Given the description of an element on the screen output the (x, y) to click on. 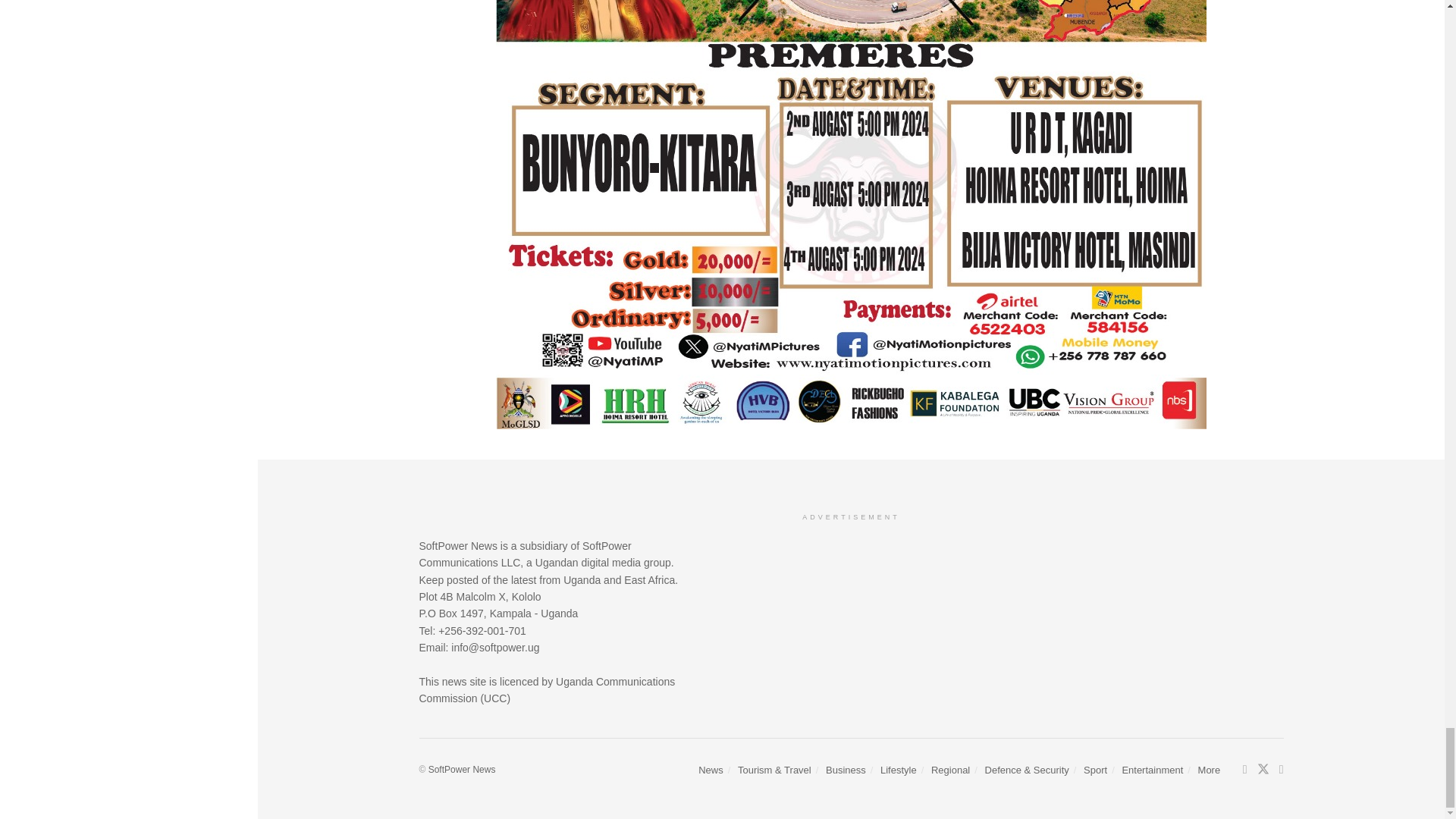
SoftPower News (462, 769)
